Given the description of an element on the screen output the (x, y) to click on. 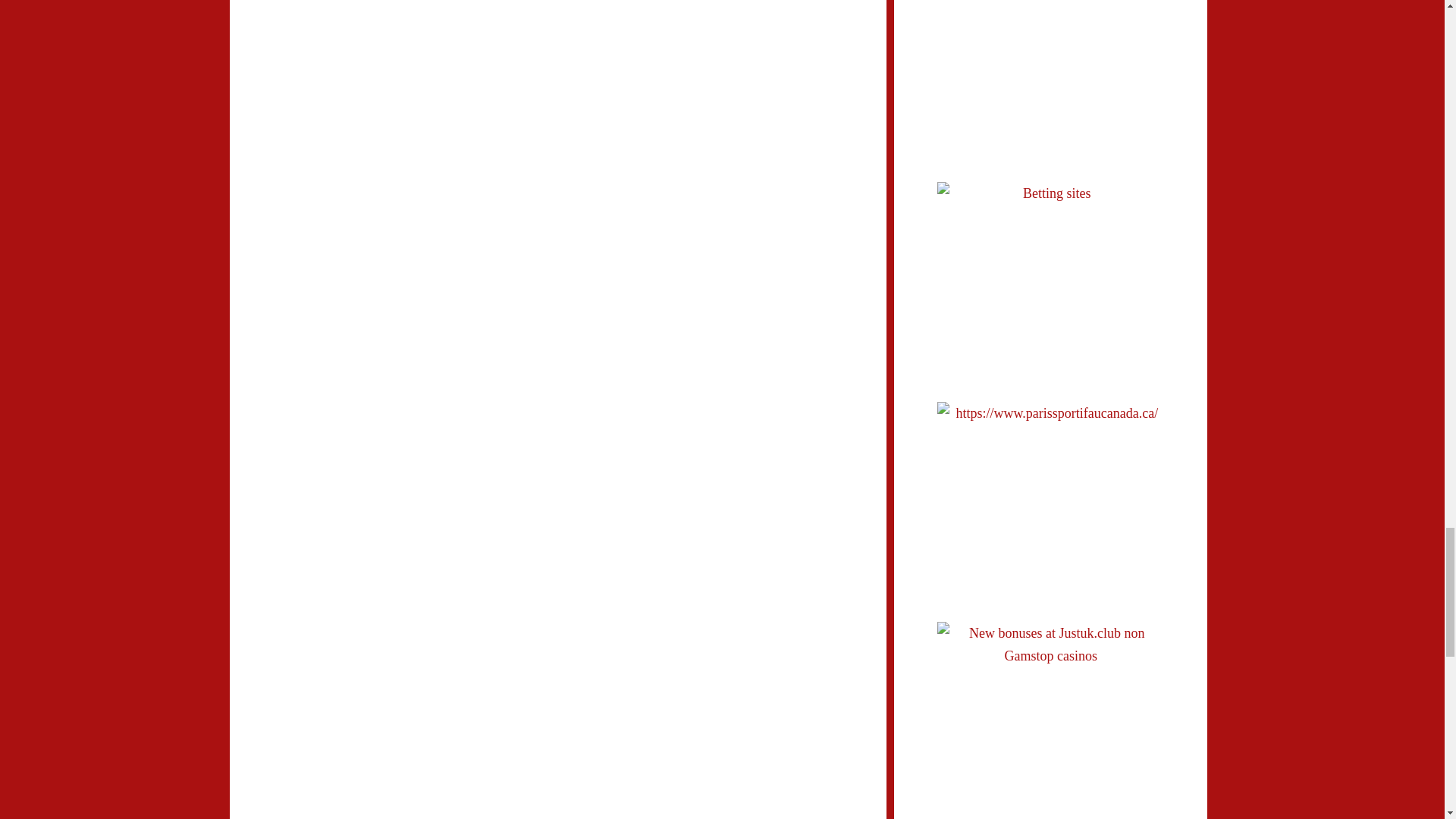
Betting sites (1050, 56)
Betting sites (1050, 257)
